Given the description of an element on the screen output the (x, y) to click on. 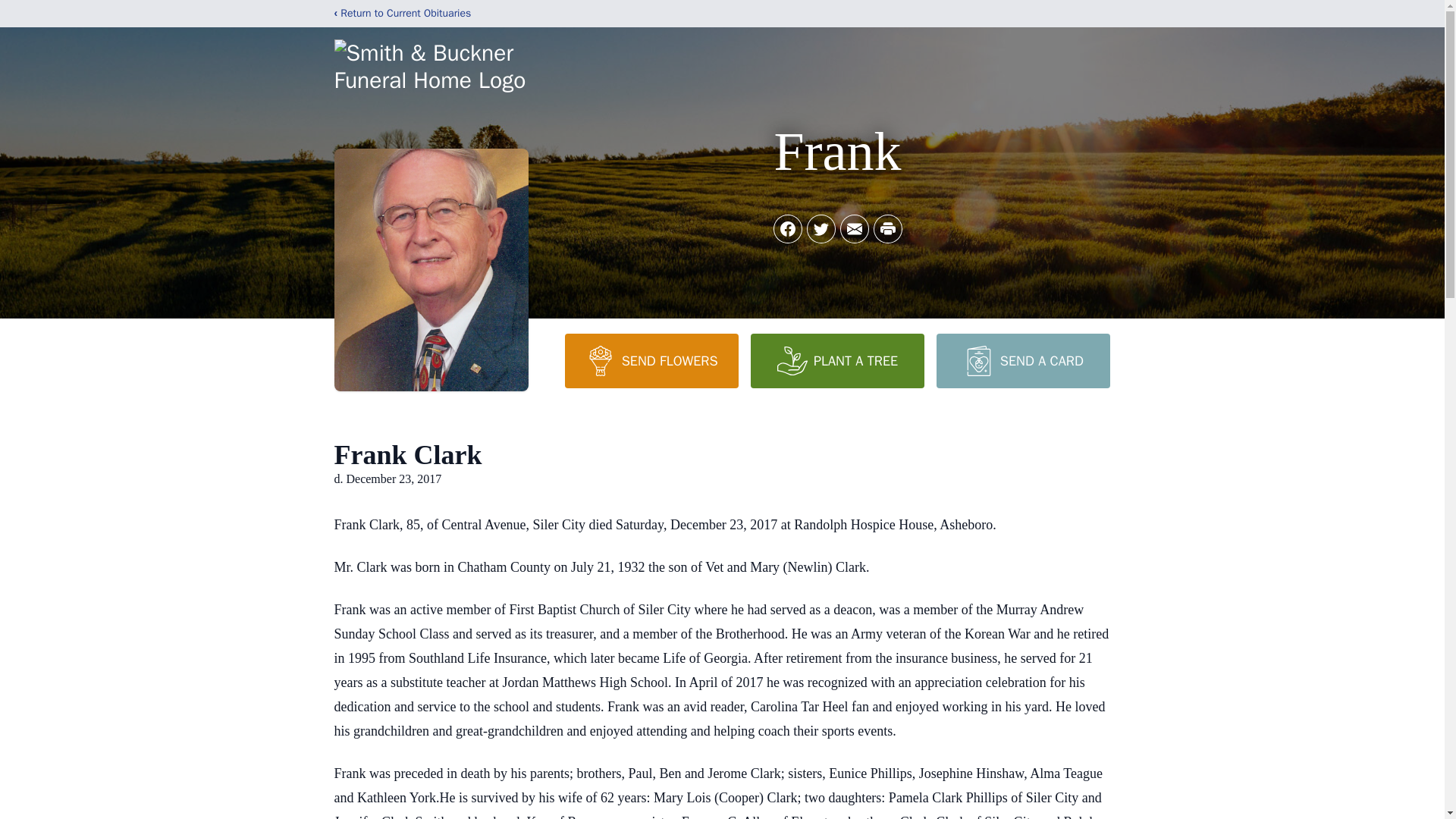
SEND A CARD (1022, 360)
SEND FLOWERS (651, 360)
PLANT A TREE (837, 360)
